Given the description of an element on the screen output the (x, y) to click on. 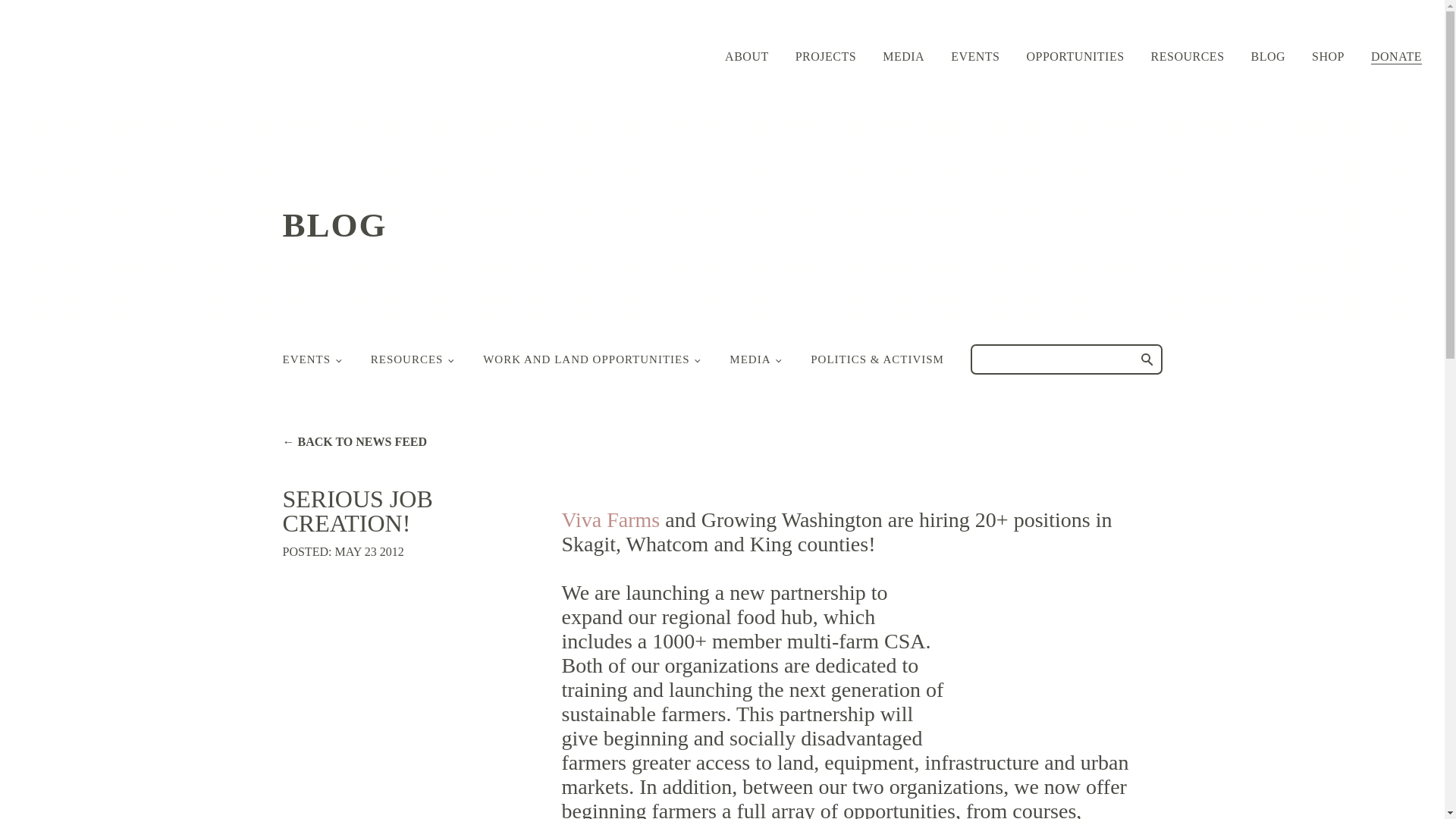
FarmWithUsGraphic (1058, 647)
OPPORTUNITIES (1075, 56)
PROJECTS (825, 56)
MEDIA (903, 56)
ABOUT (746, 56)
EVENTS (974, 56)
RESOURCES (1187, 56)
BLOG (1267, 56)
